Given the description of an element on the screen output the (x, y) to click on. 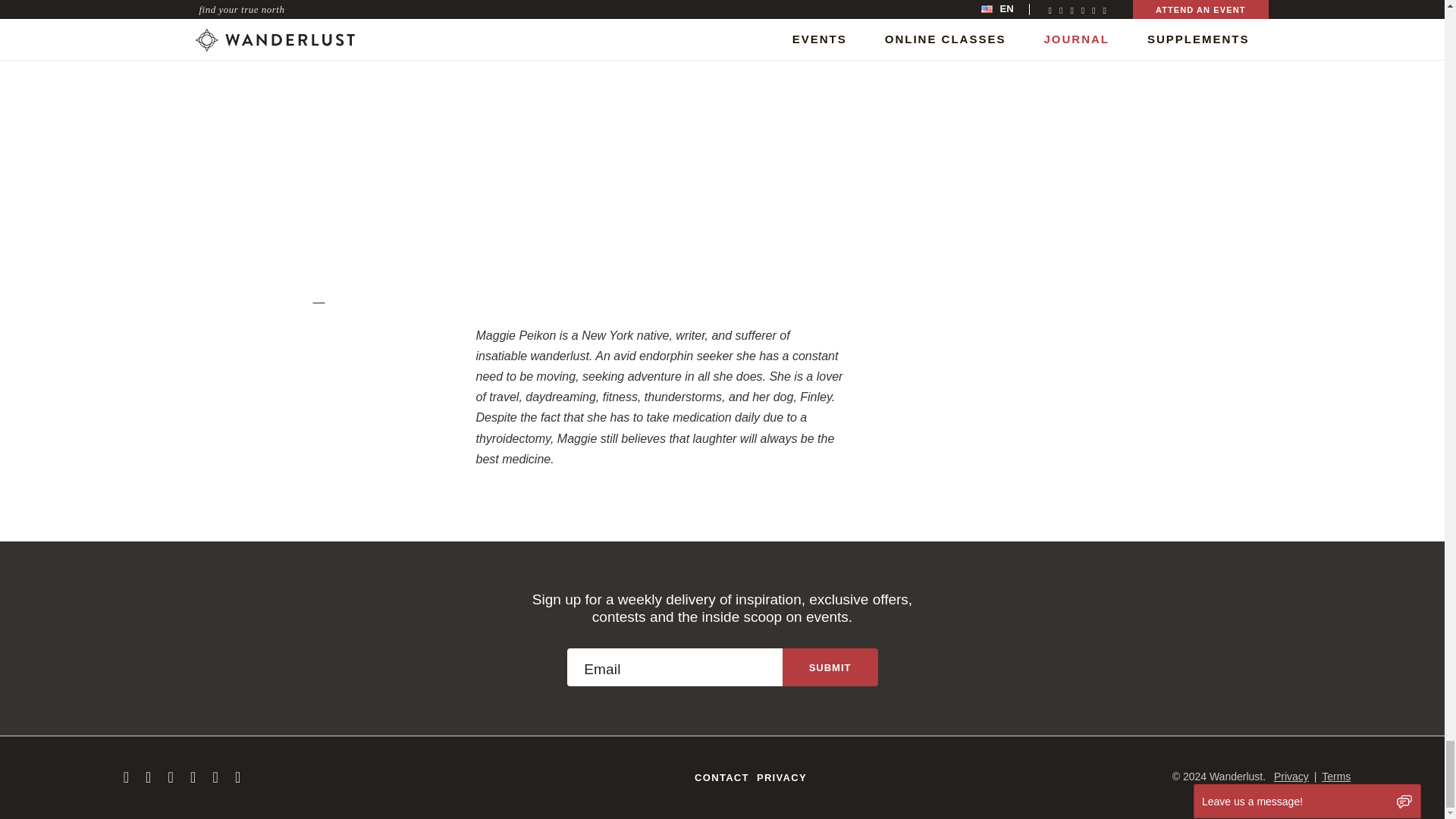
Submit (830, 667)
